Given the description of an element on the screen output the (x, y) to click on. 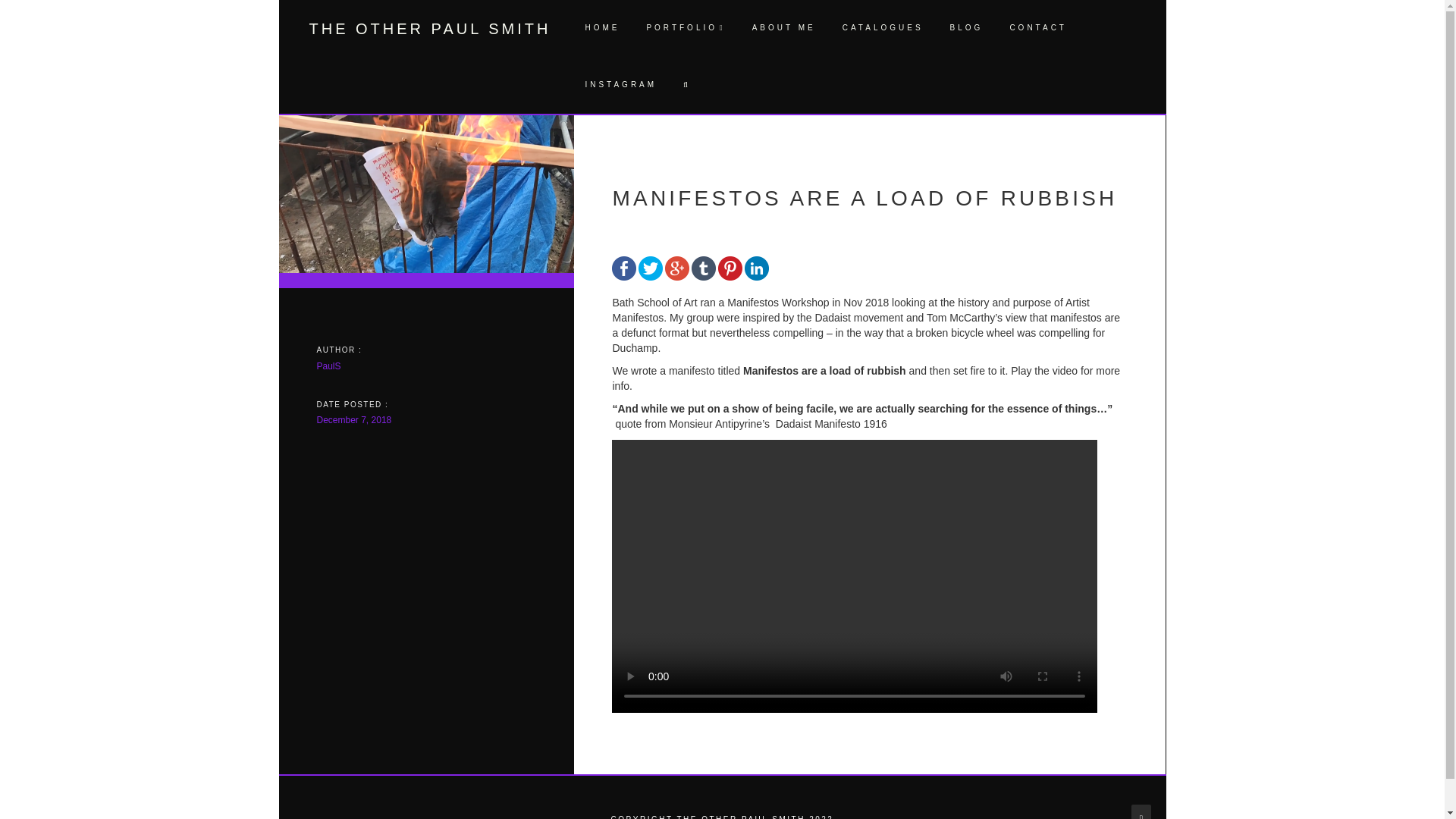
PaulS (328, 366)
CONTACT (1036, 28)
INSTAGRAM (618, 84)
Posts by PaulS (328, 366)
ABOUT ME (781, 28)
THE OTHER PAUL SMITH (429, 27)
CATALOGUES (880, 28)
PORTFOLIO (683, 28)
